Given the description of an element on the screen output the (x, y) to click on. 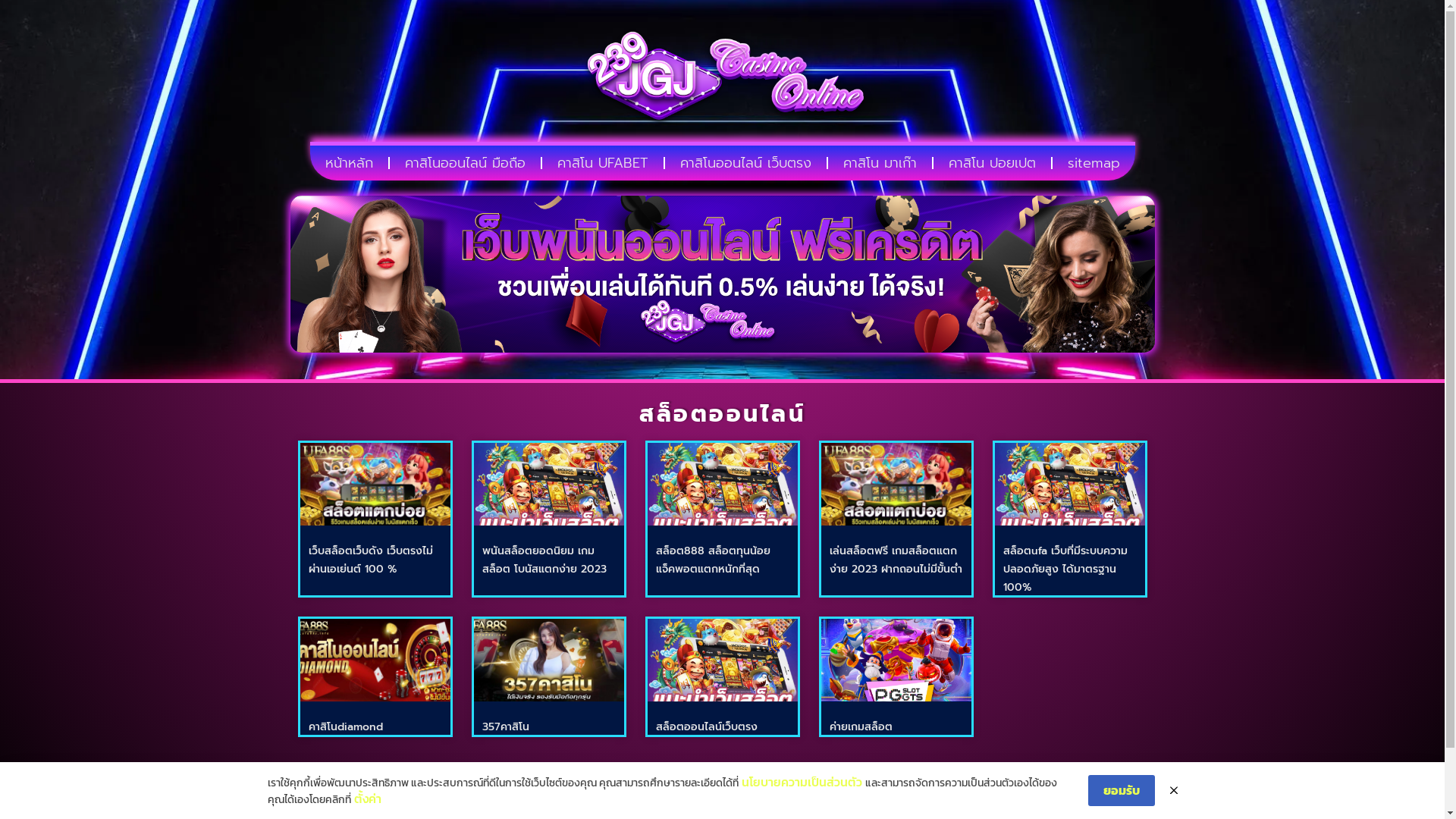
sitemap Element type: text (1093, 162)
